Given the description of an element on the screen output the (x, y) to click on. 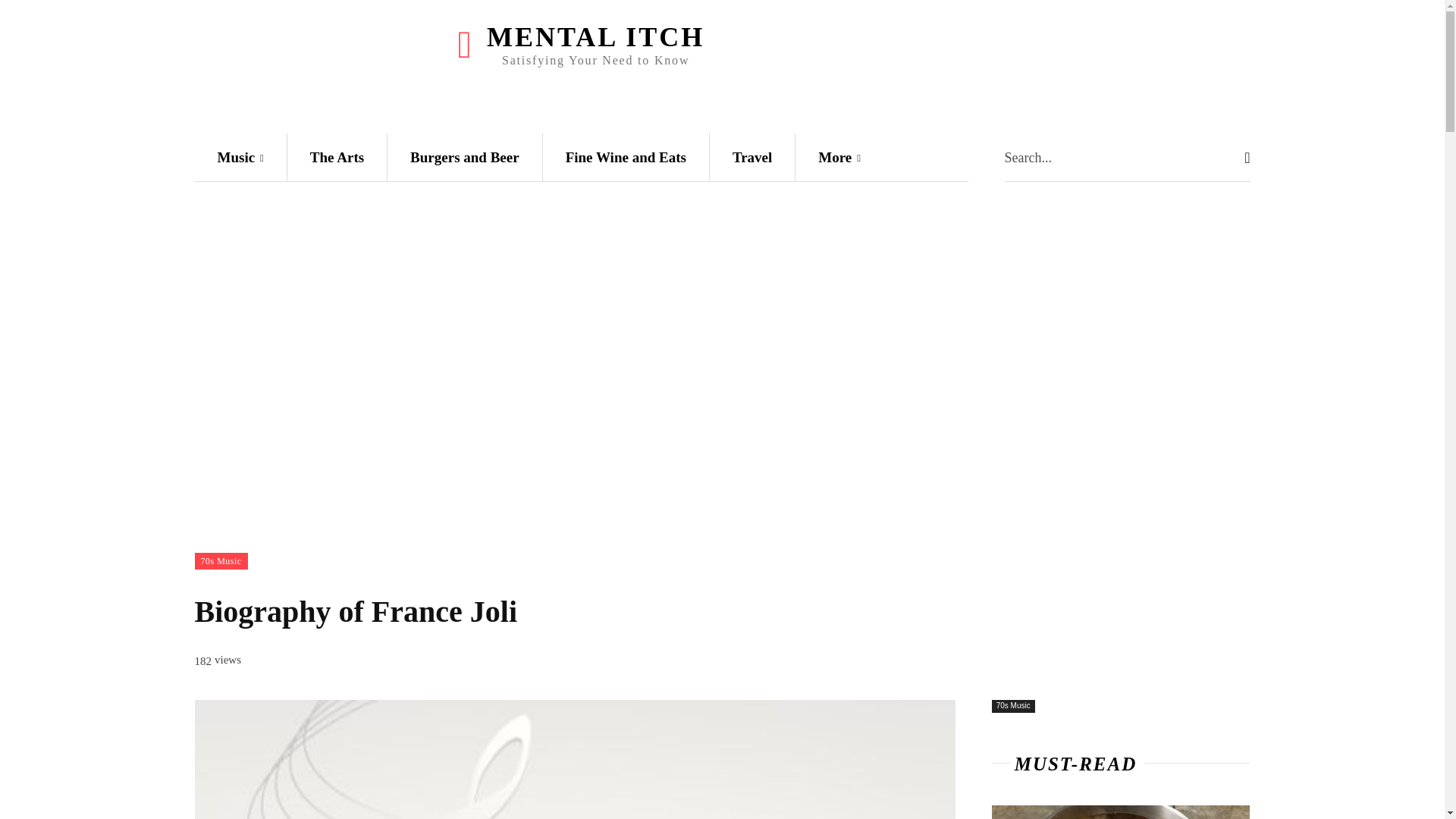
What Is Wort and Why Is It So Important for Beer Brewing? (1120, 812)
Biography of France Joli (574, 759)
